Given the description of an element on the screen output the (x, y) to click on. 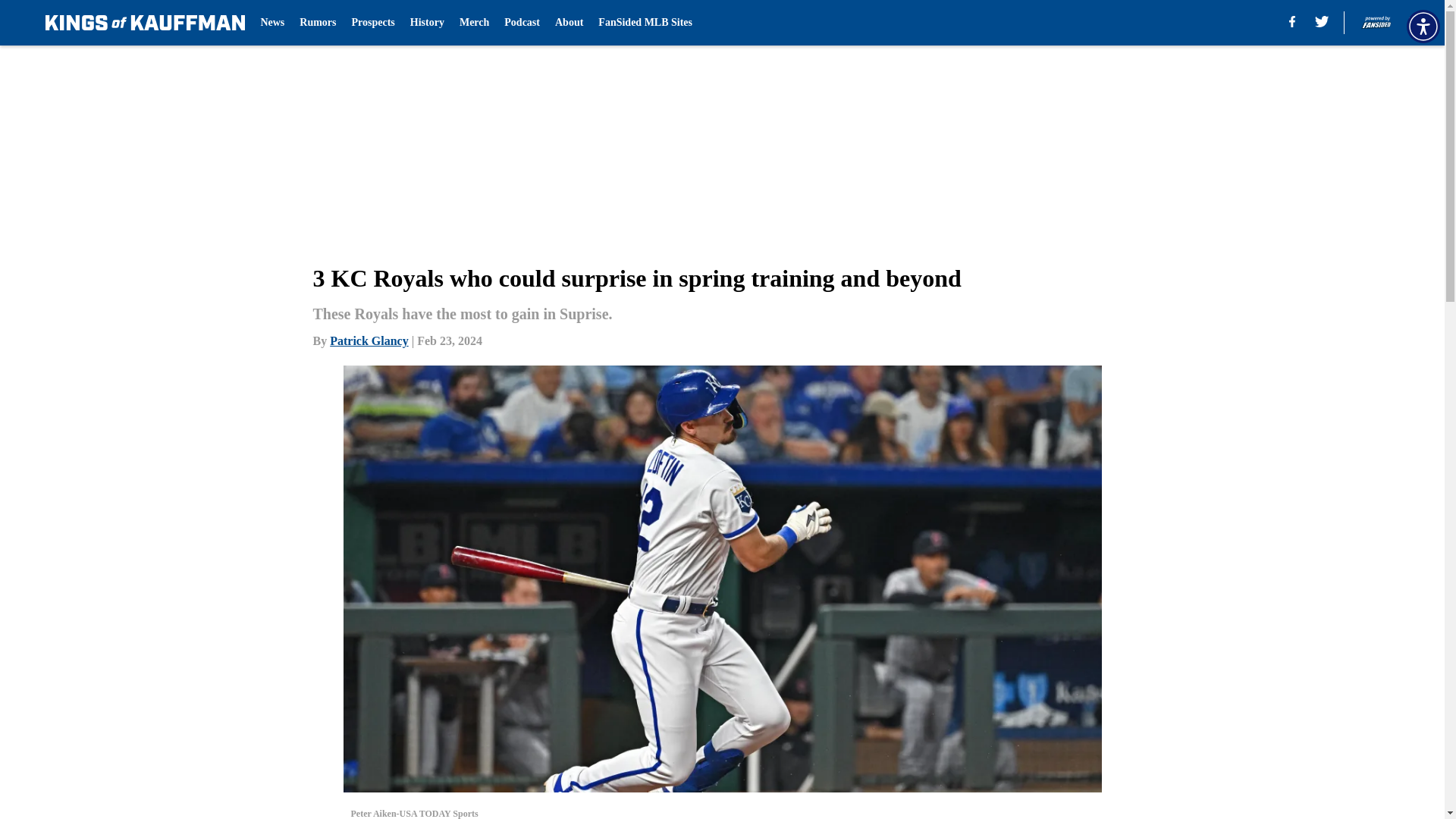
FanSided MLB Sites (645, 22)
Accessibility Menu (1422, 26)
Merch (474, 22)
About (568, 22)
News (271, 22)
History (427, 22)
Patrick Glancy (369, 340)
Rumors (317, 22)
Prospects (373, 22)
Podcast (521, 22)
